Given the description of an element on the screen output the (x, y) to click on. 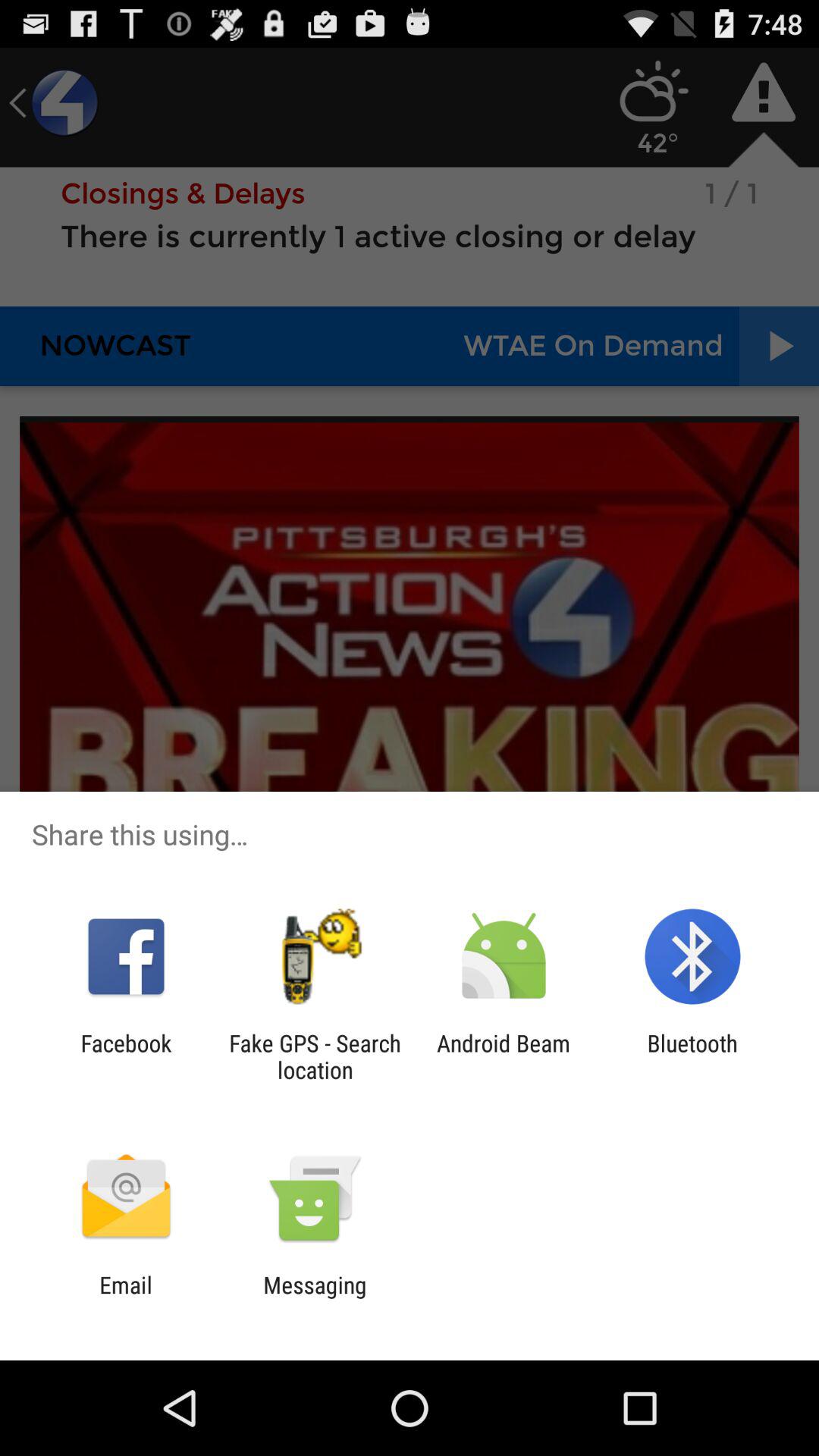
scroll until messaging app (314, 1298)
